Given the description of an element on the screen output the (x, y) to click on. 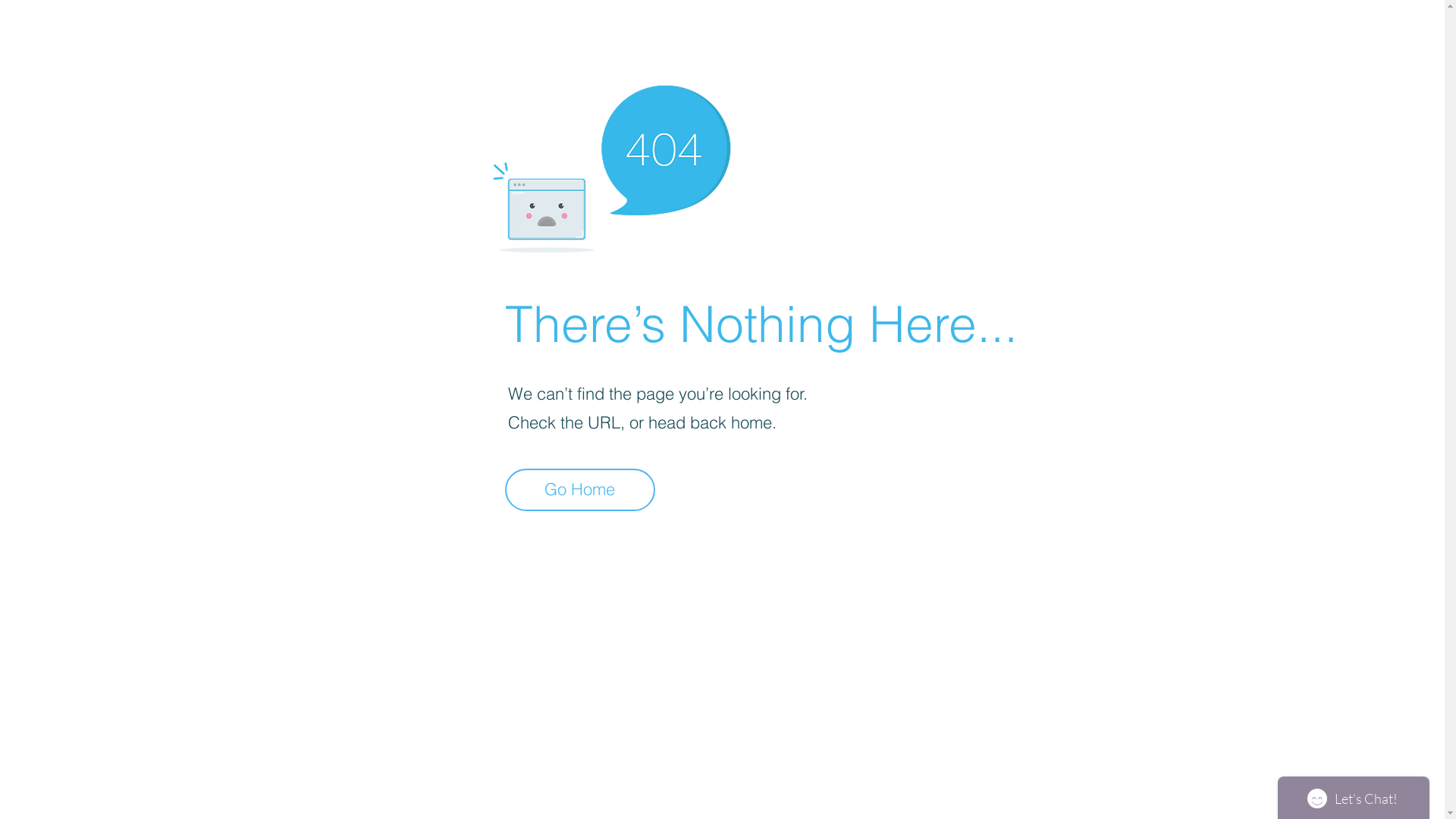
Go Home Element type: text (580, 489)
404-icon_2.png Element type: hover (610, 164)
